Given the description of an element on the screen output the (x, y) to click on. 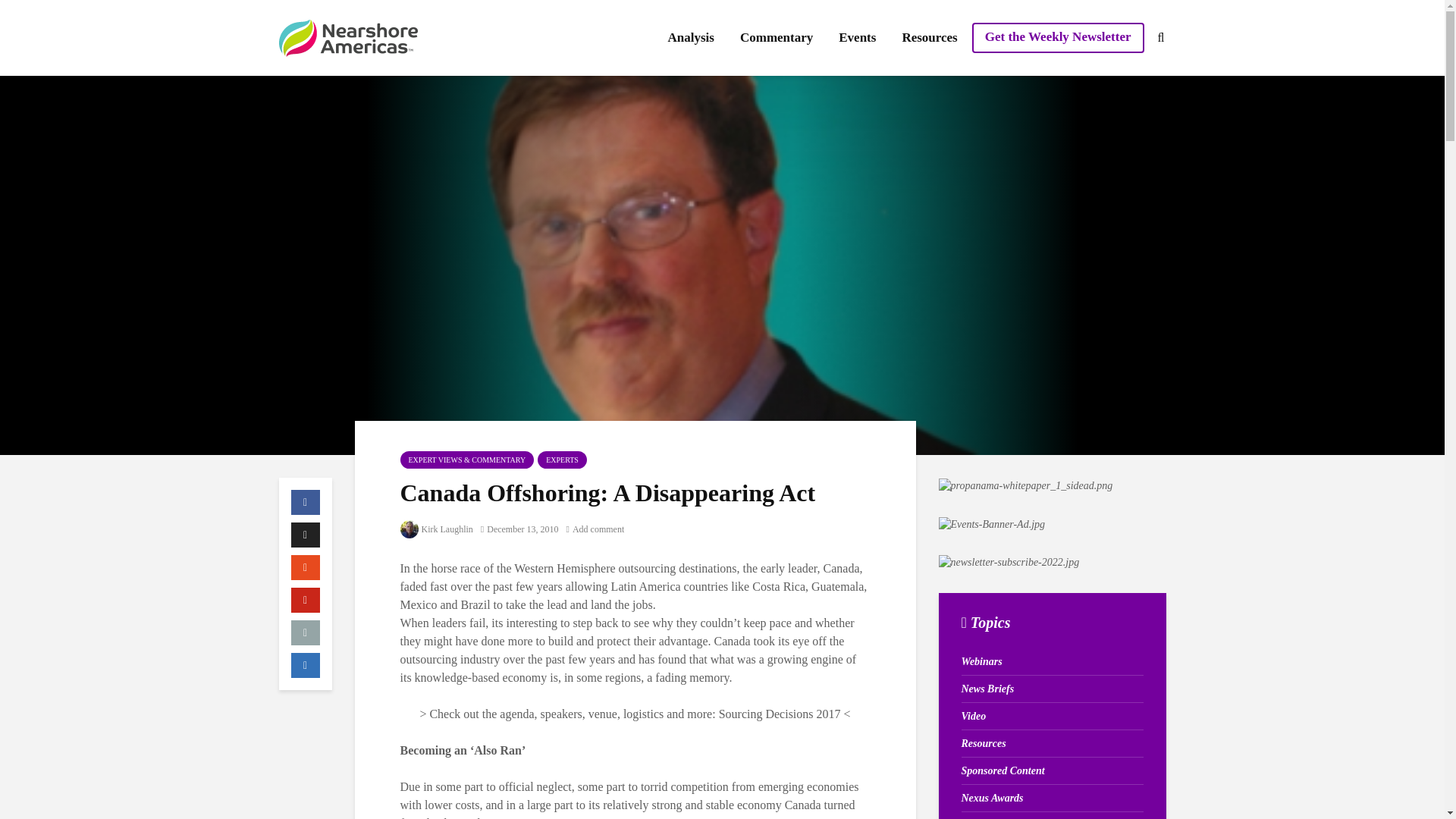
Resources (928, 37)
Events (856, 37)
Kirk Laughlin (436, 529)
Add comment (595, 529)
Commentary (776, 37)
Get the Weekly Newsletter (1058, 37)
EXPERTS (561, 459)
Analysis (690, 37)
